Given the description of an element on the screen output the (x, y) to click on. 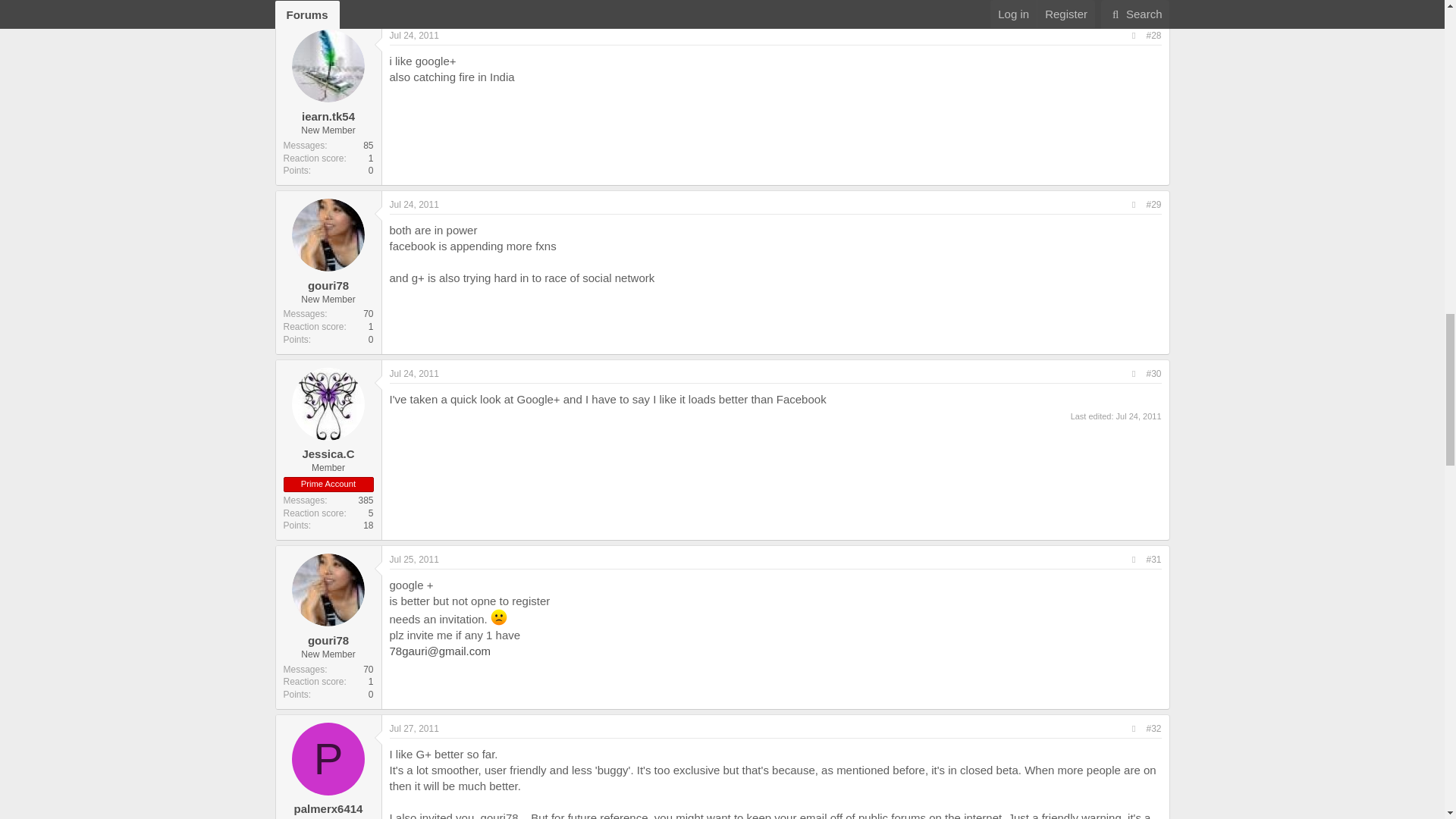
Jul 24, 2011 at 9:13 PM (414, 373)
Jul 25, 2011 at 6:05 AM (414, 559)
Jul 24, 2011 at 7:33 AM (414, 35)
Jul 24, 2011 at 6:02 PM (414, 204)
Jul 24, 2011 at 9:14 PM (1138, 415)
